Given the description of an element on the screen output the (x, y) to click on. 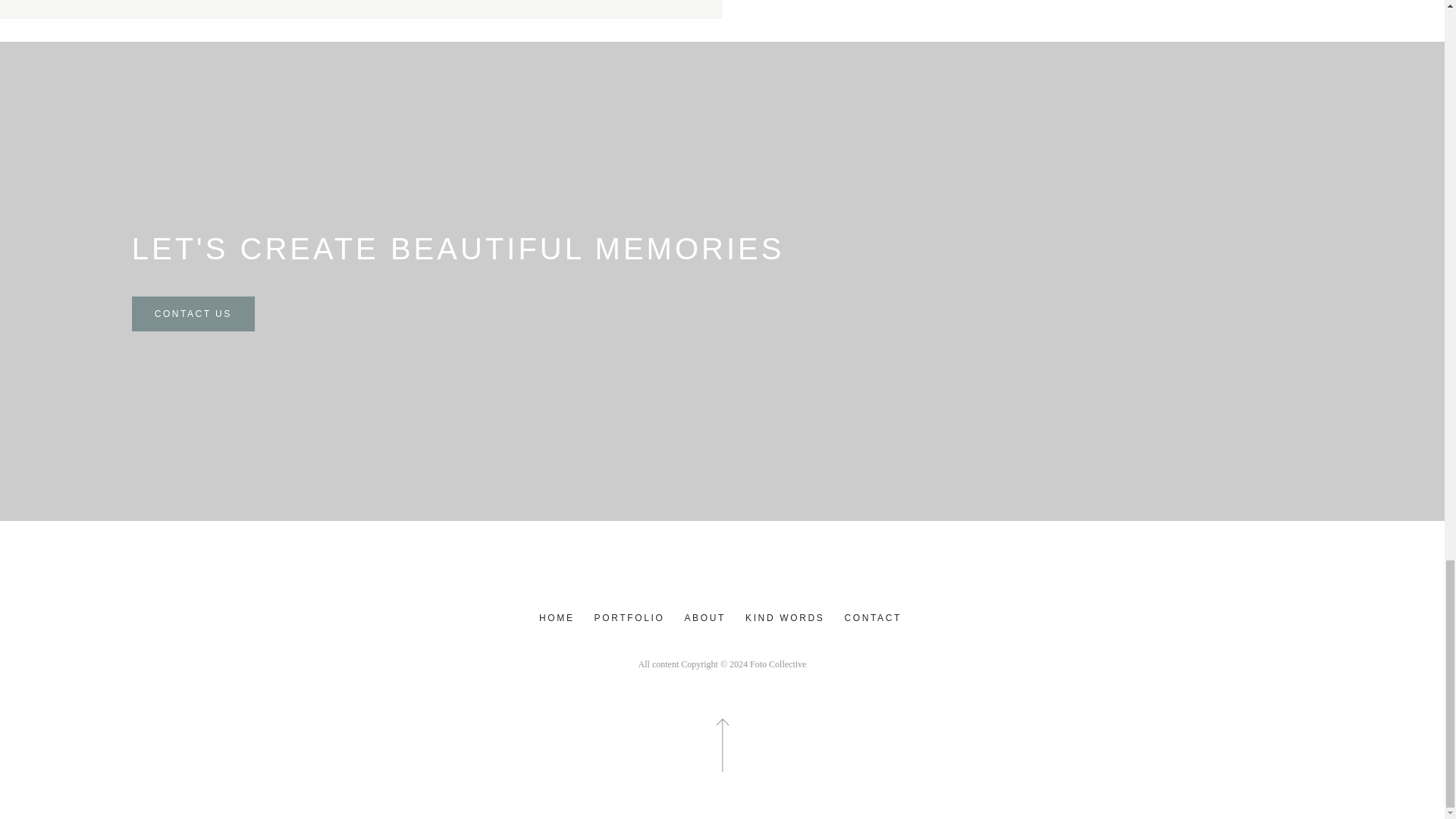
ABOUT (705, 617)
CONTACT US (193, 313)
HOME (556, 617)
CONTACT (872, 617)
KIND WORDS (784, 617)
PORTFOLIO (629, 617)
